Given the description of an element on the screen output the (x, y) to click on. 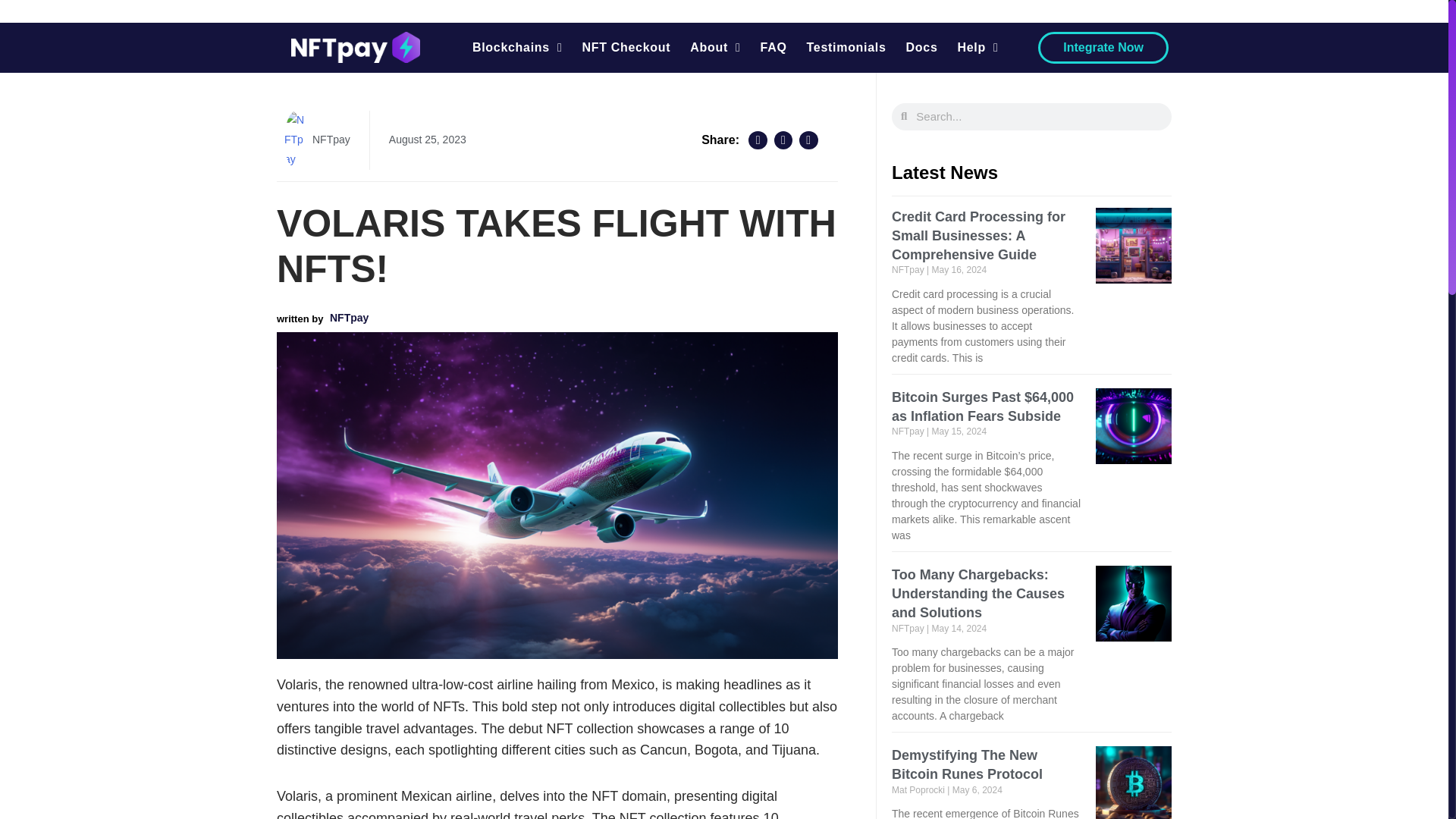
FAQ (773, 47)
About (714, 47)
NFT Checkout (625, 47)
Blockchains (517, 47)
Docs (921, 47)
Testimonials (846, 47)
Help (978, 47)
